Given the description of an element on the screen output the (x, y) to click on. 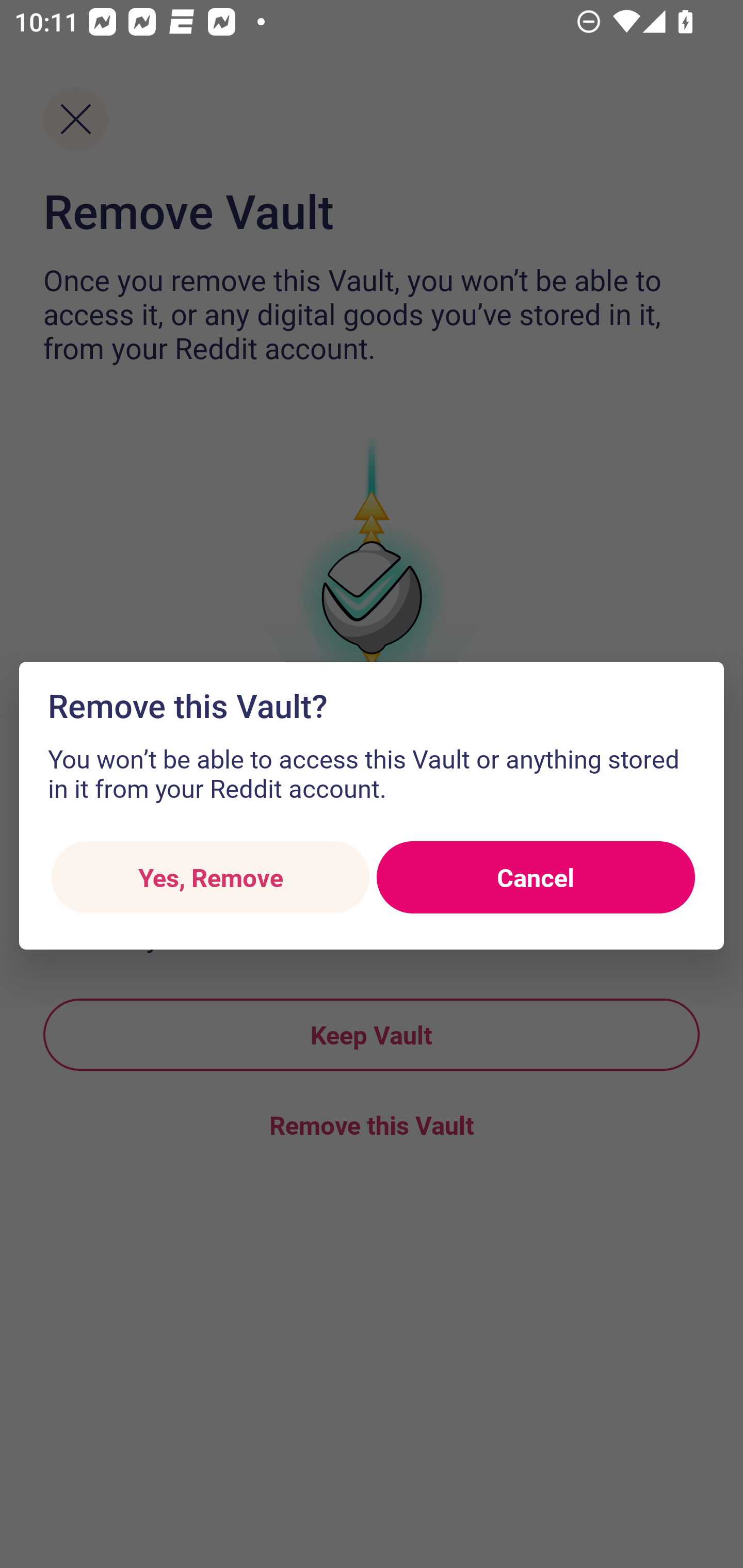
Yes, Remove (210, 878)
Cancel (535, 878)
